Given the description of an element on the screen output the (x, y) to click on. 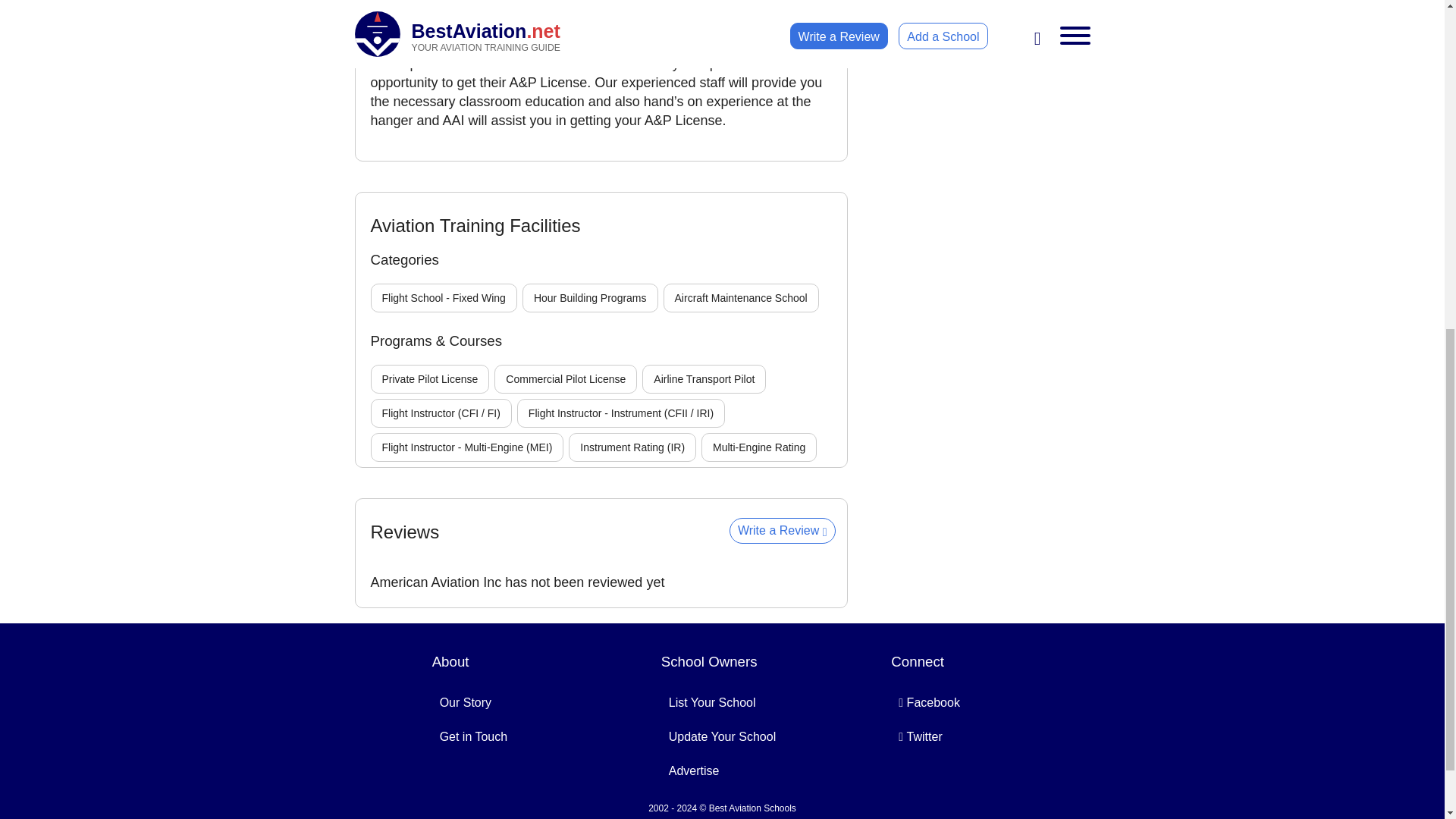
Write a Review (782, 530)
Get in Touch (473, 736)
Update Your School (722, 736)
Advertise (693, 770)
Facebook (929, 702)
List Your School (711, 702)
Our Story (465, 702)
Twitter (920, 736)
